Given the description of an element on the screen output the (x, y) to click on. 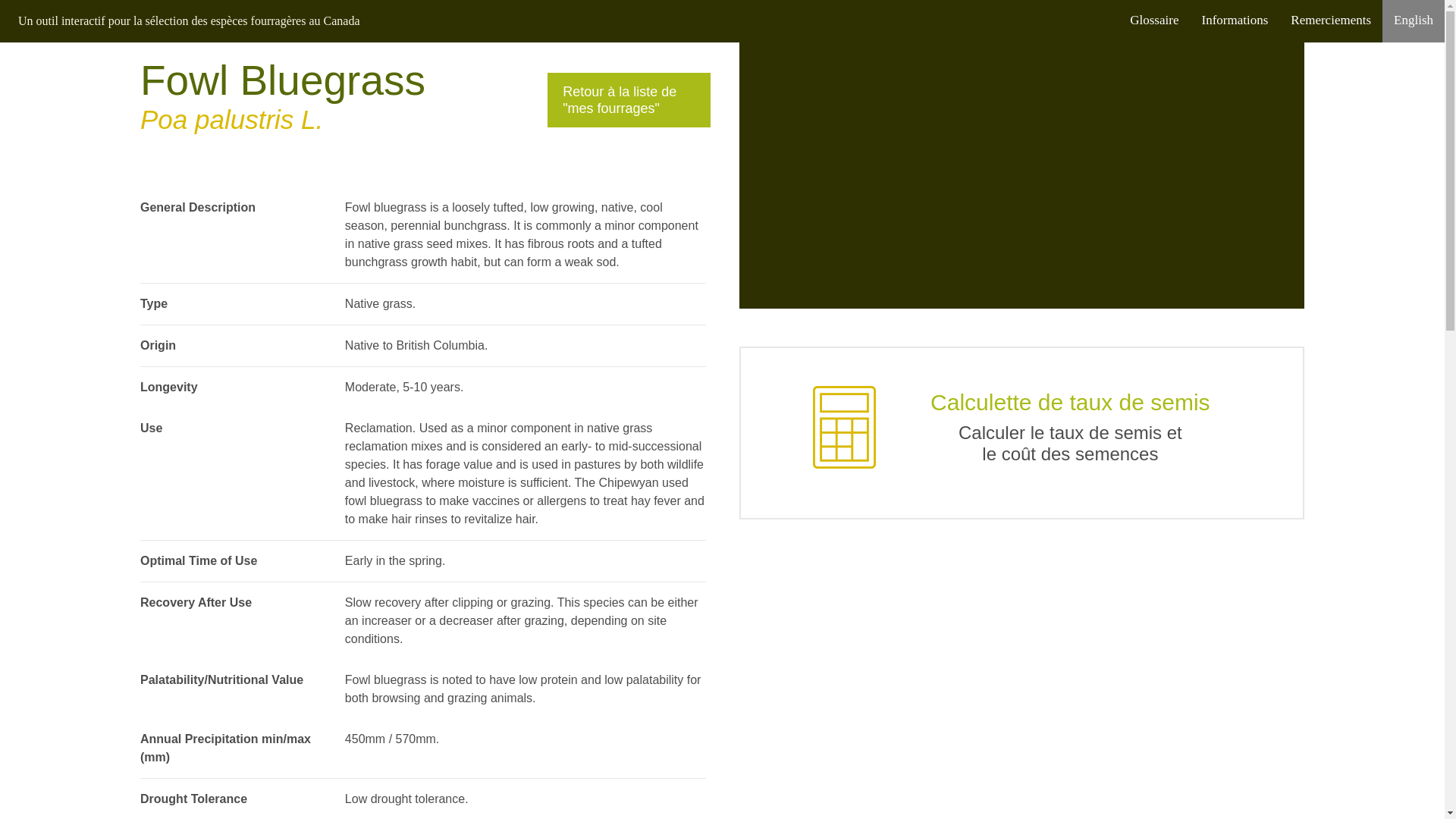
General Information (422, 297)
Glossaire (1153, 21)
Informations (1234, 21)
Yield and Quality (422, 689)
Informations (1234, 21)
Remerciements (1330, 21)
Remerciements (1330, 21)
Glossaire (1153, 21)
